Given the description of an element on the screen output the (x, y) to click on. 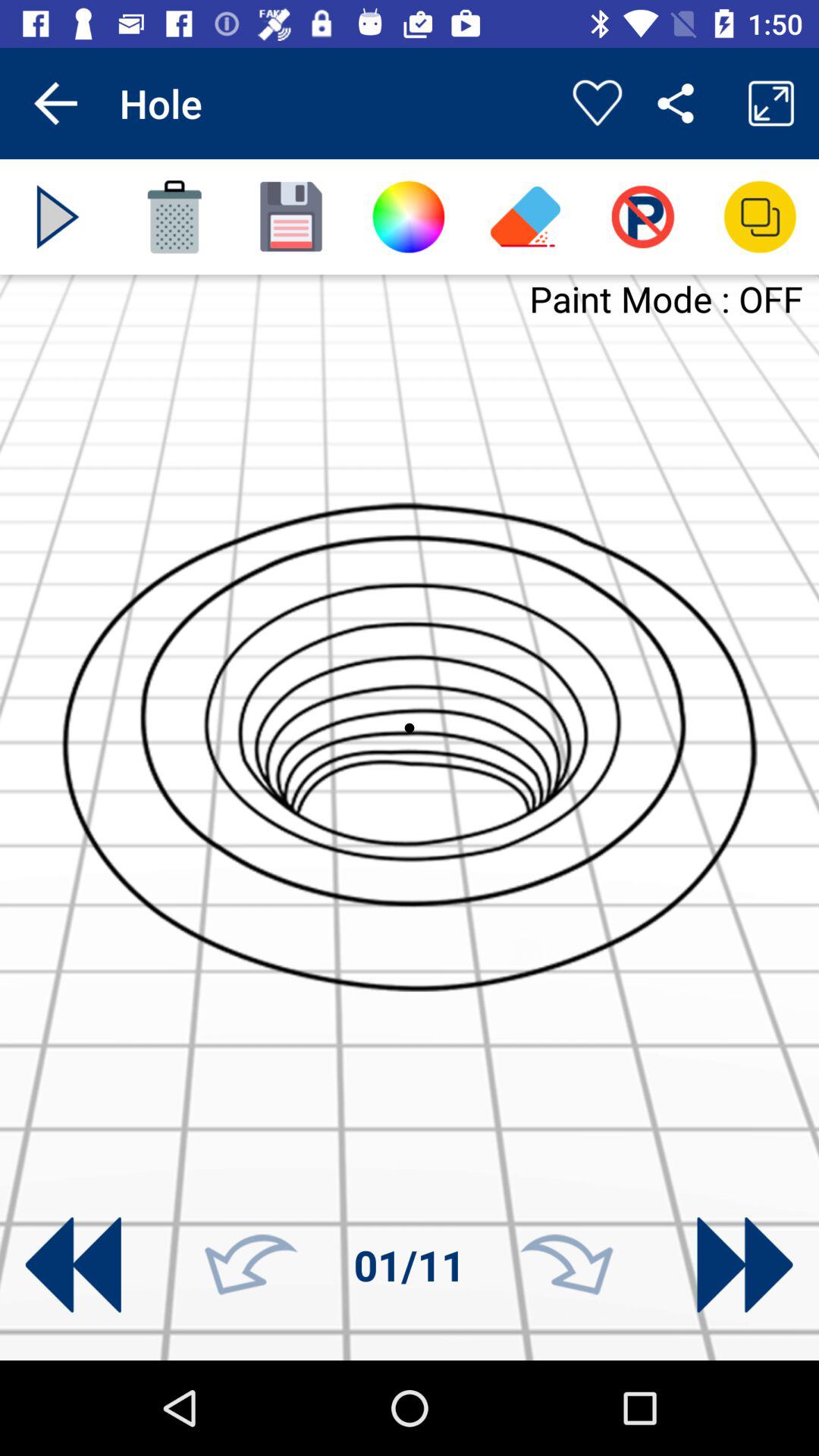
save file (291, 216)
